Given the description of an element on the screen output the (x, y) to click on. 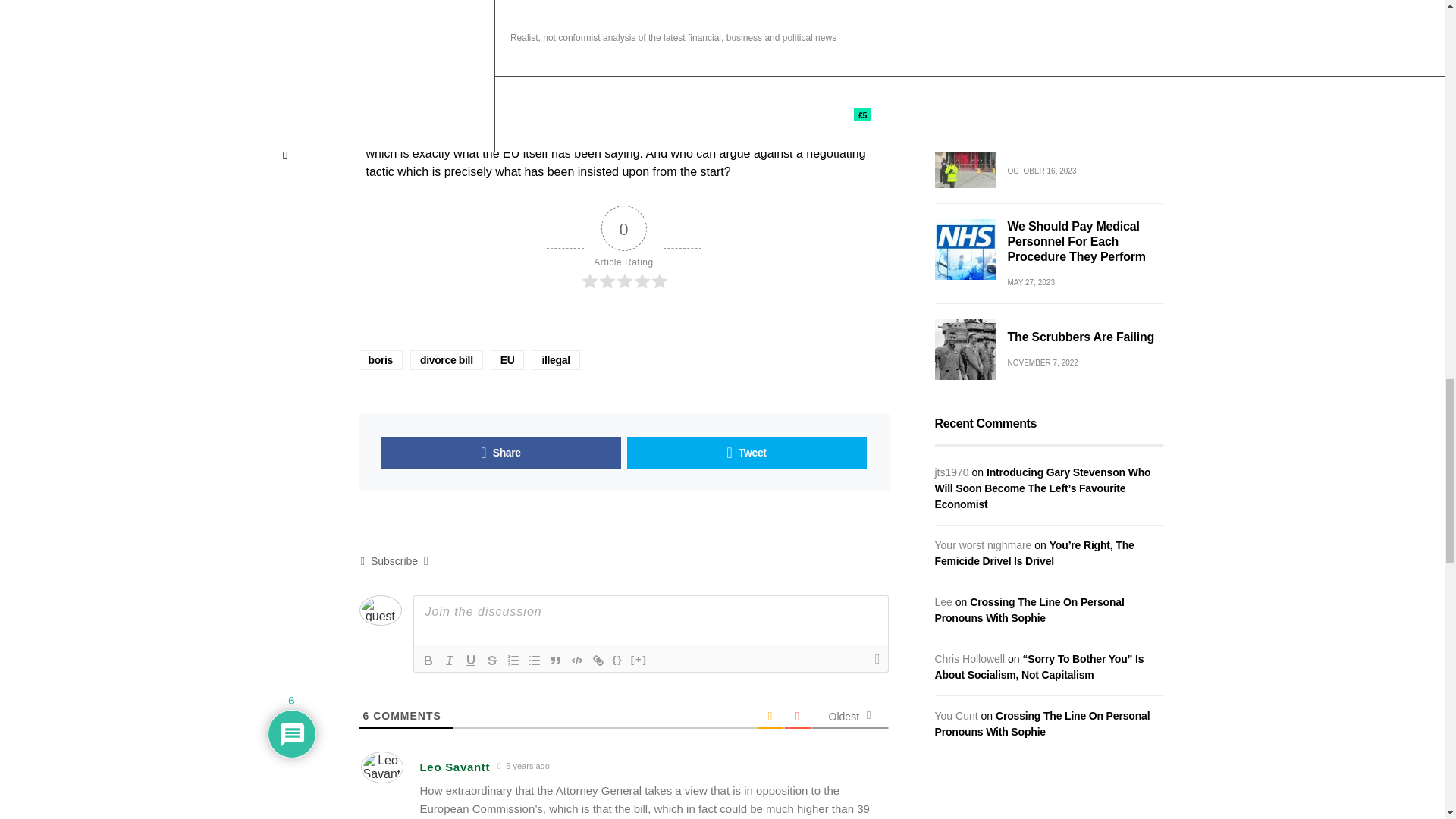
Code Block (576, 660)
Unordered List (533, 660)
Underline (470, 660)
Ordered List (512, 660)
Italic (449, 660)
Bold (427, 660)
Blockquote (555, 660)
Strike (491, 660)
